Given the description of an element on the screen output the (x, y) to click on. 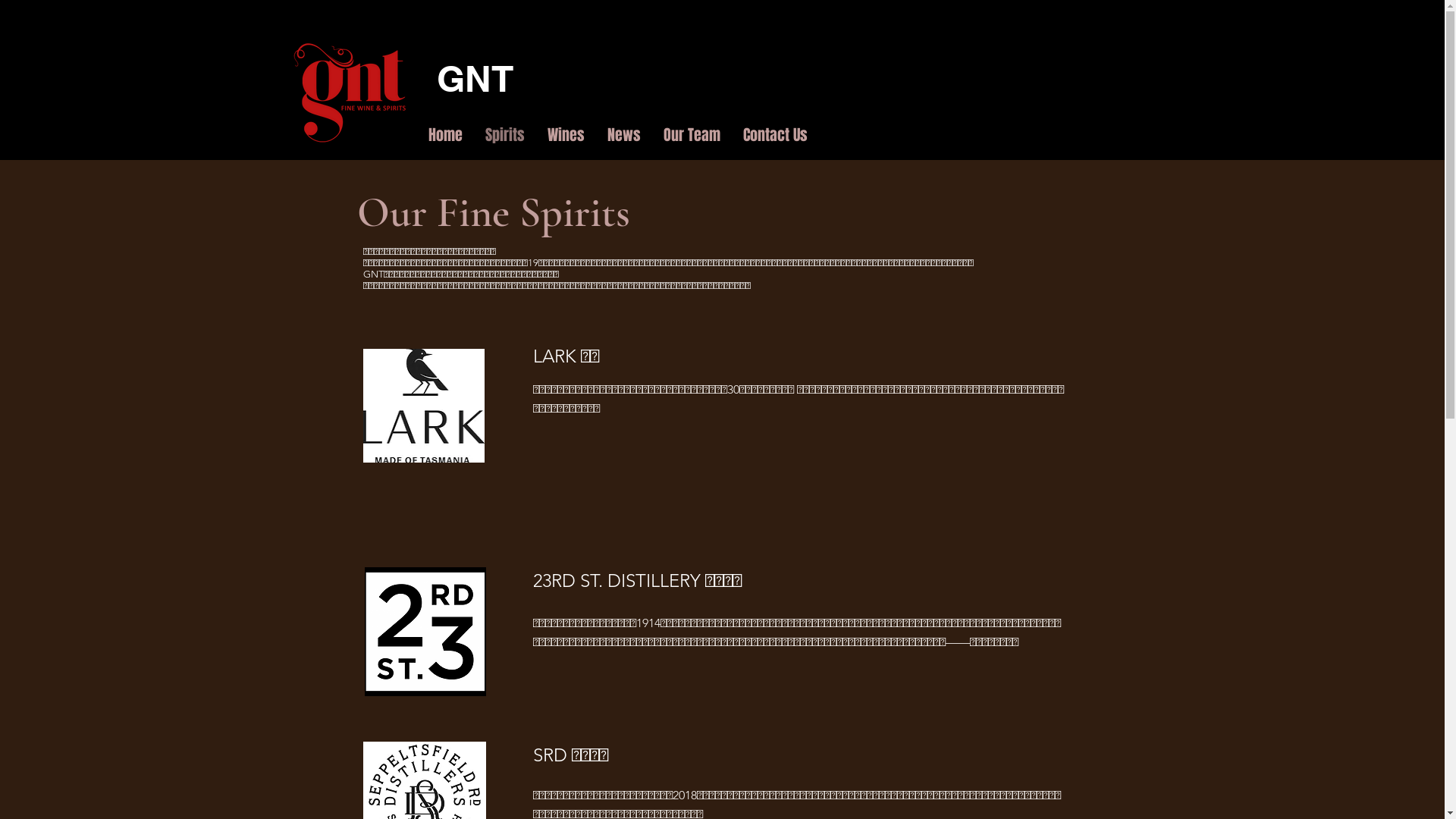
Contact Us Element type: text (774, 135)
News Element type: text (624, 135)
Home Element type: text (445, 135)
Our Team Element type: text (691, 135)
Wines Element type: text (565, 135)
Spirits Element type: text (504, 135)
